Given the description of an element on the screen output the (x, y) to click on. 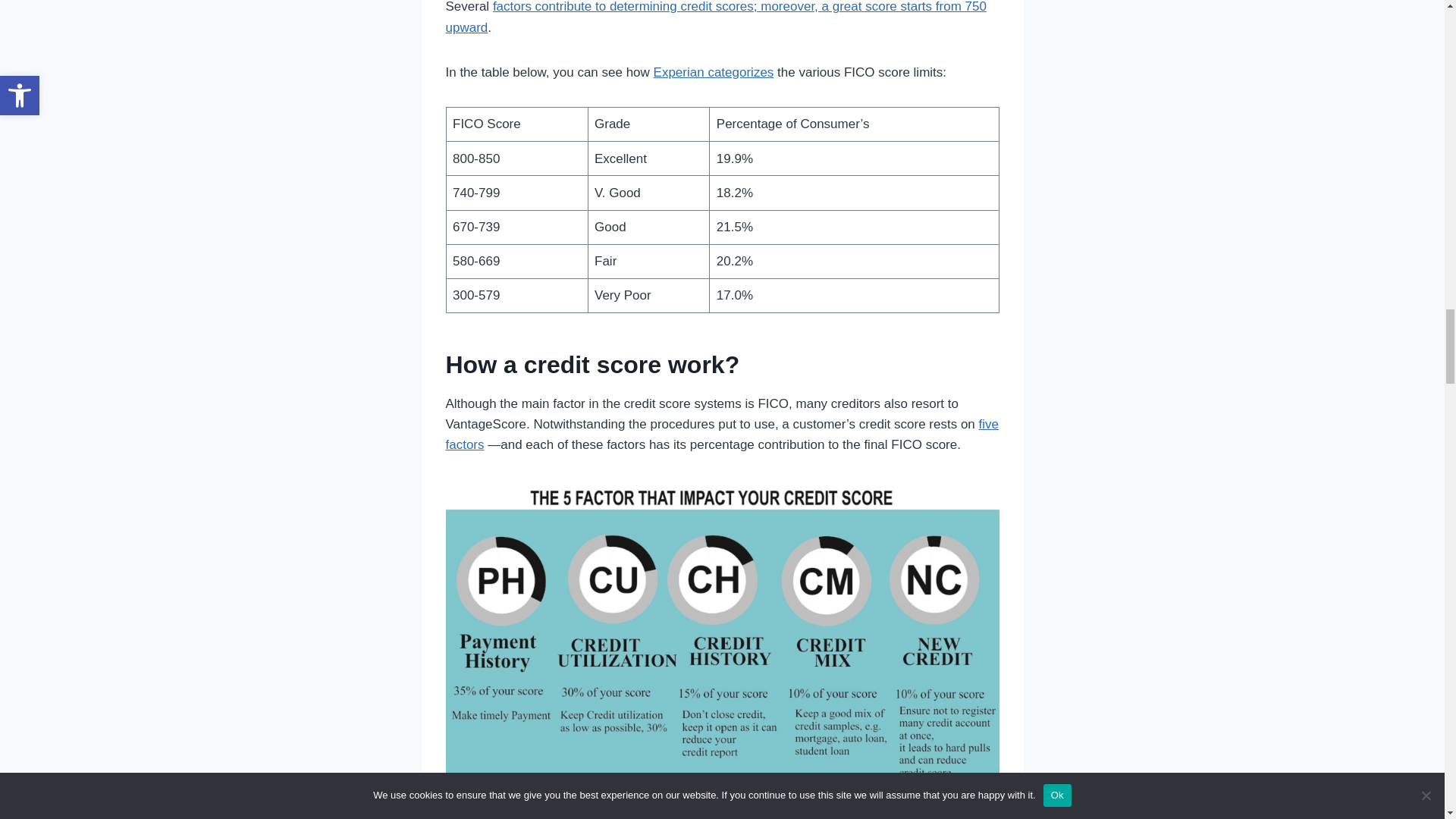
Experian categorizes (713, 72)
five factors (721, 434)
